Given the description of an element on the screen output the (x, y) to click on. 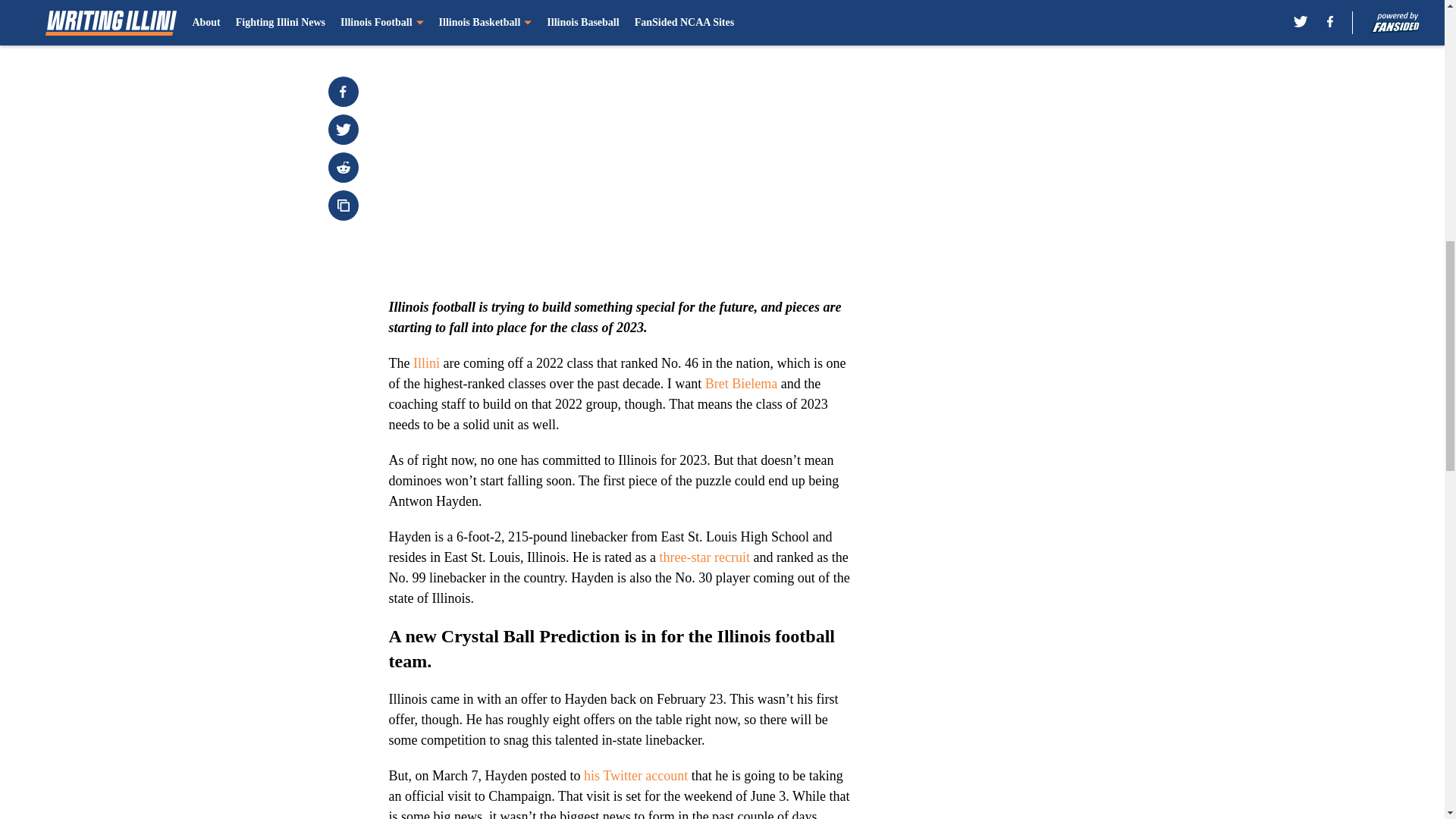
his Twitter account (635, 775)
Bret Bielema (740, 383)
Illini (426, 363)
three-star recruit (704, 557)
